Given the description of an element on the screen output the (x, y) to click on. 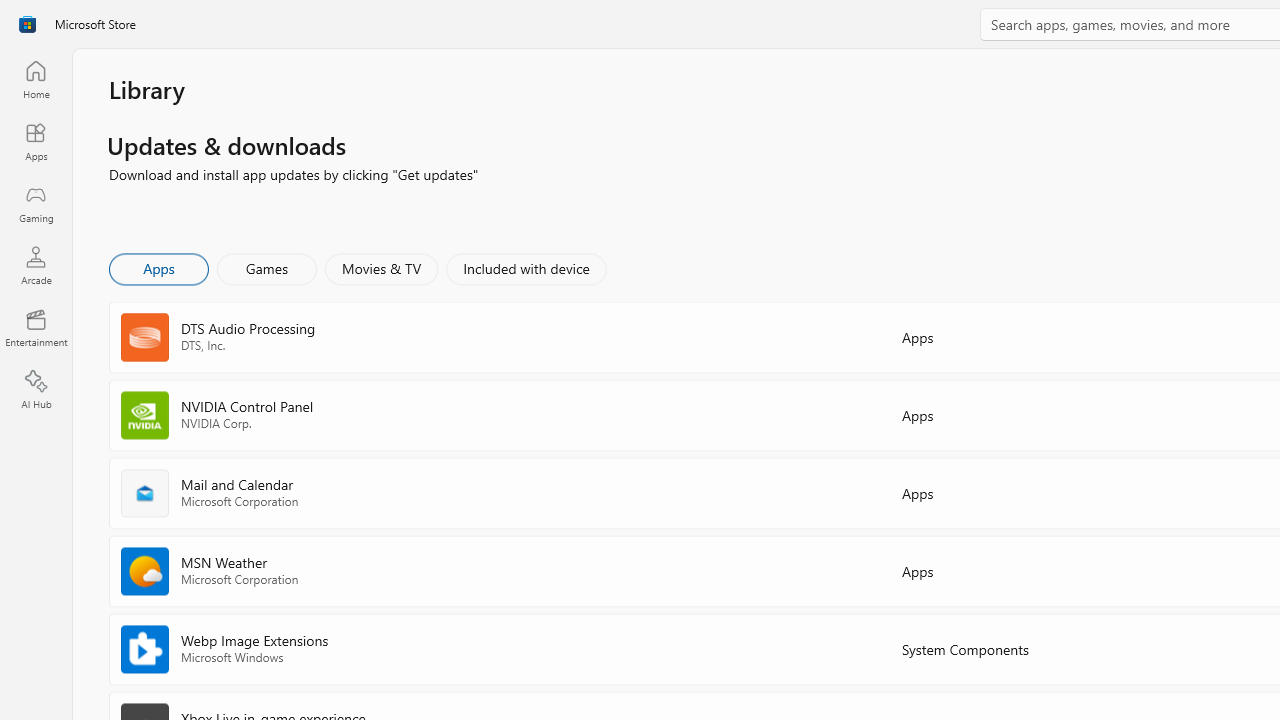
AI Hub (35, 390)
Apps (35, 141)
Gaming (35, 203)
Arcade (35, 265)
Class: Image (27, 24)
Home (35, 79)
Apps (158, 268)
Movies & TV (381, 268)
Games (267, 268)
Entertainment (35, 327)
Included with device (525, 268)
